Given the description of an element on the screen output the (x, y) to click on. 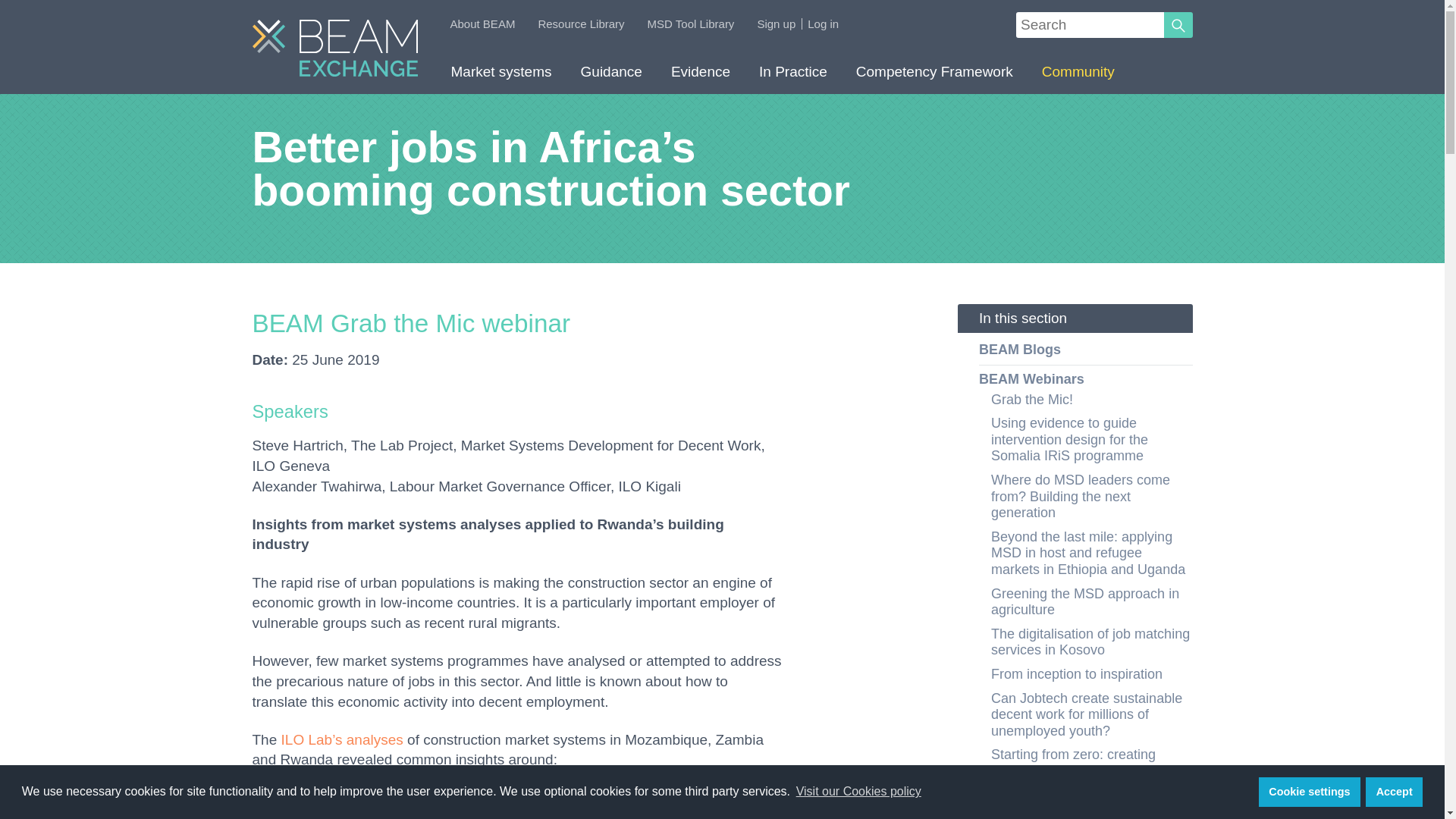
Market systems (501, 76)
Guidance (611, 76)
Resource Library (580, 23)
Log in (823, 23)
Sign up (775, 23)
About BEAM (482, 23)
Competency Framework (934, 76)
Visit our Cookies policy (858, 791)
Evidence (700, 76)
In Practice (792, 76)
